Given the description of an element on the screen output the (x, y) to click on. 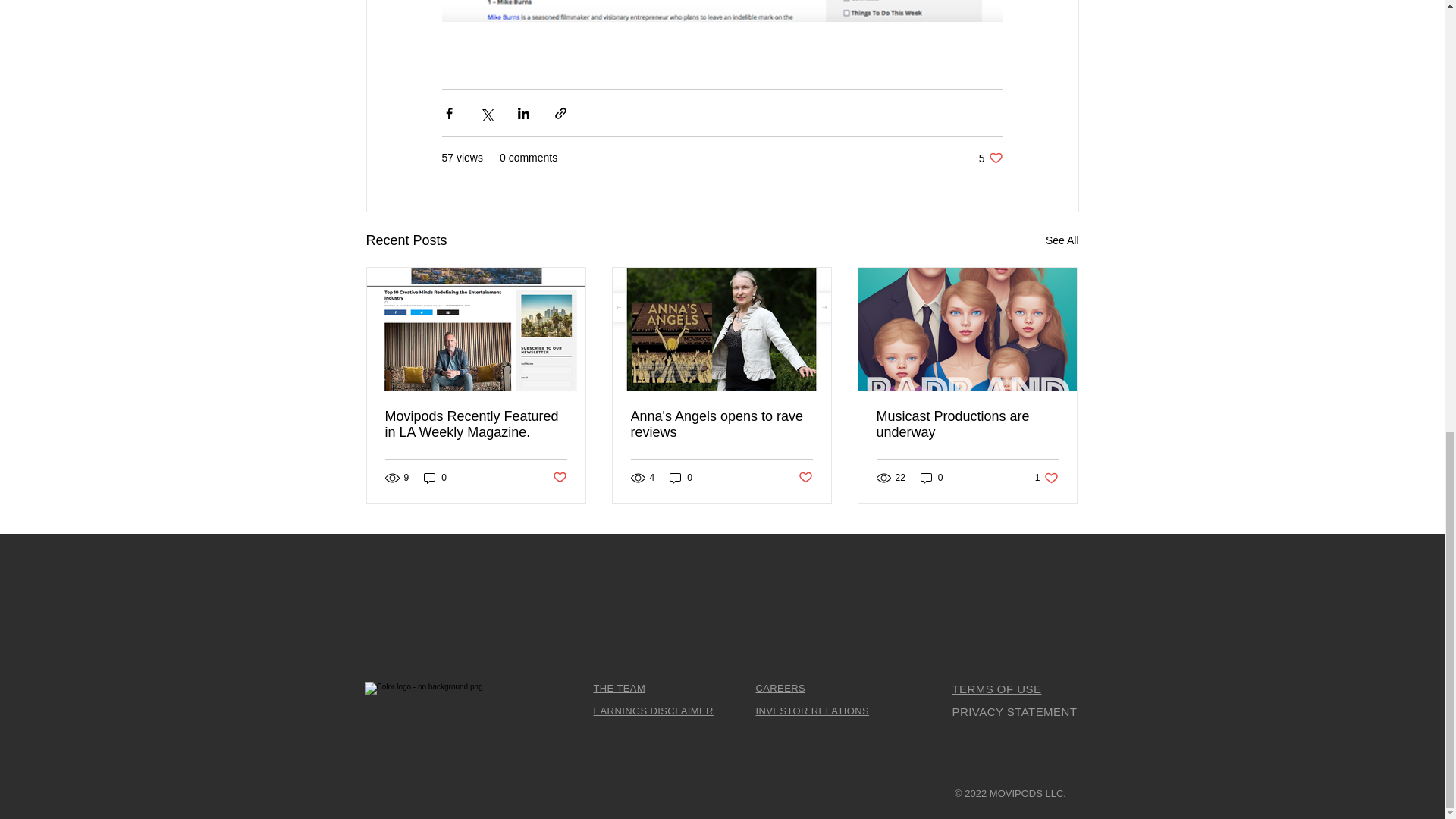
See All (1061, 240)
0 (1046, 477)
EARNINGS DISCLAIMER (931, 477)
Musicast Productions are underway (652, 710)
0 (967, 424)
PRIVACY STATEMENT (990, 157)
0 (435, 477)
THE TEAM (1014, 711)
